Given the description of an element on the screen output the (x, y) to click on. 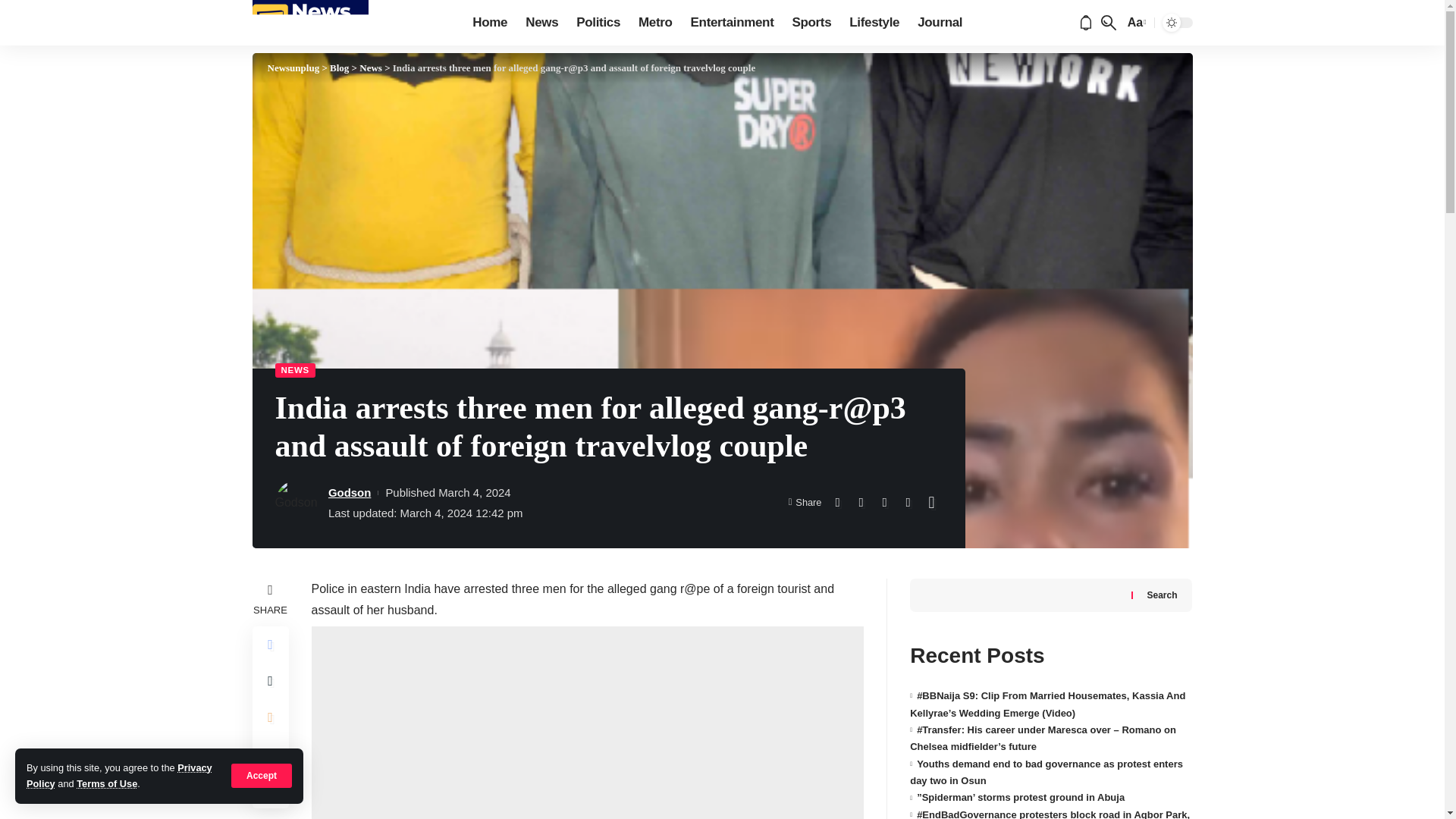
Entertainment (732, 22)
Lifestyle (874, 22)
Privacy Policy (119, 775)
Politics (597, 22)
Metro (654, 22)
Newsunplug (309, 22)
Go to Newsunplug. (292, 67)
Sports (811, 22)
Terms of Use (106, 783)
News (541, 22)
Accept (261, 775)
Journal (939, 22)
Go to the News Category archives. (370, 67)
Aa (1135, 22)
Advertisement (587, 722)
